Given the description of an element on the screen output the (x, y) to click on. 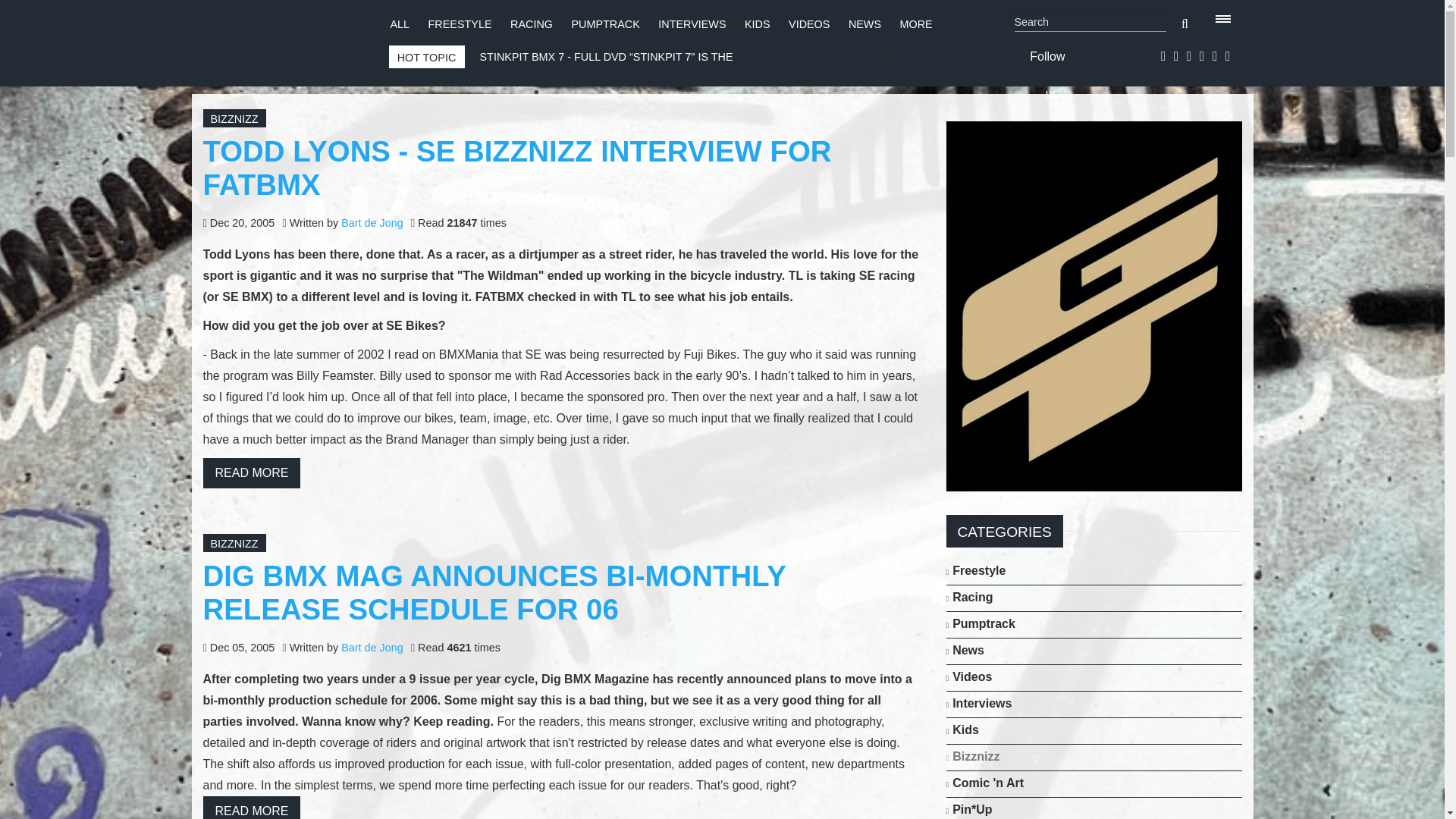
Bart de Jong (371, 223)
TODD LYONS - SE BIZZNIZZ INTERVIEW FOR FATBMX (517, 167)
KIDS (757, 24)
RACING (532, 24)
VIDEOS (809, 24)
DIG BMX MAG ANNOUNCES BI-MONTHLY RELEASE SCHEDULE FOR 06 (494, 592)
search (1185, 23)
NEWS (864, 24)
Bart de Jong (371, 647)
PUMPTRACK (604, 24)
READ MORE (252, 472)
FREESTYLE (460, 24)
MORE (916, 24)
Search (1090, 22)
